Given the description of an element on the screen output the (x, y) to click on. 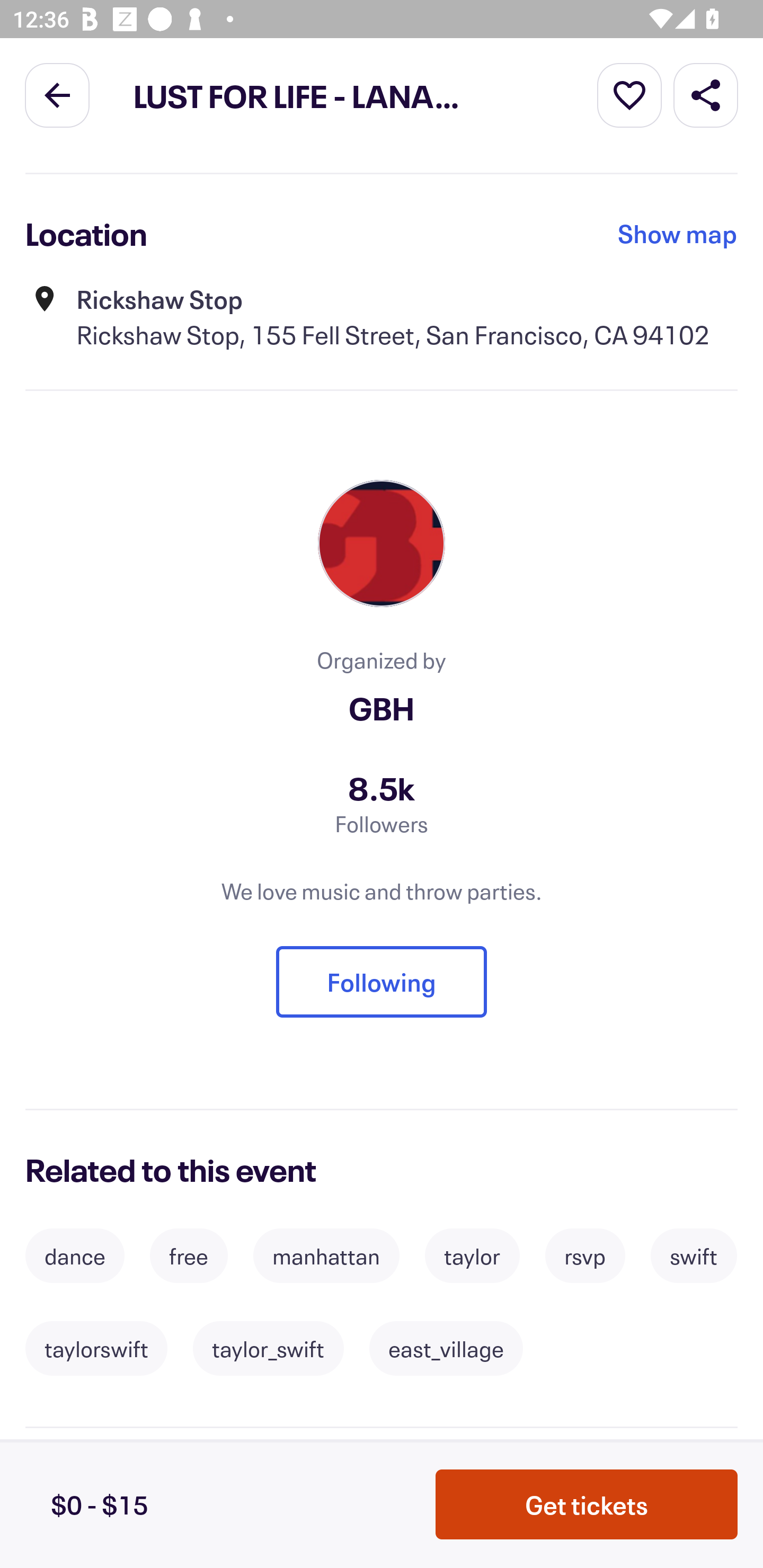
Back (57, 94)
More (629, 94)
Share (705, 94)
Show map (677, 233)
Organizer profile picture (381, 542)
GBH (381, 707)
Following (381, 981)
dance (74, 1255)
free (189, 1255)
manhattan (326, 1255)
taylor (471, 1255)
rsvp (584, 1255)
swift (693, 1255)
taylorswift (96, 1348)
taylor_swift (268, 1348)
east_village (445, 1348)
Get tickets (586, 1504)
